Given the description of an element on the screen output the (x, y) to click on. 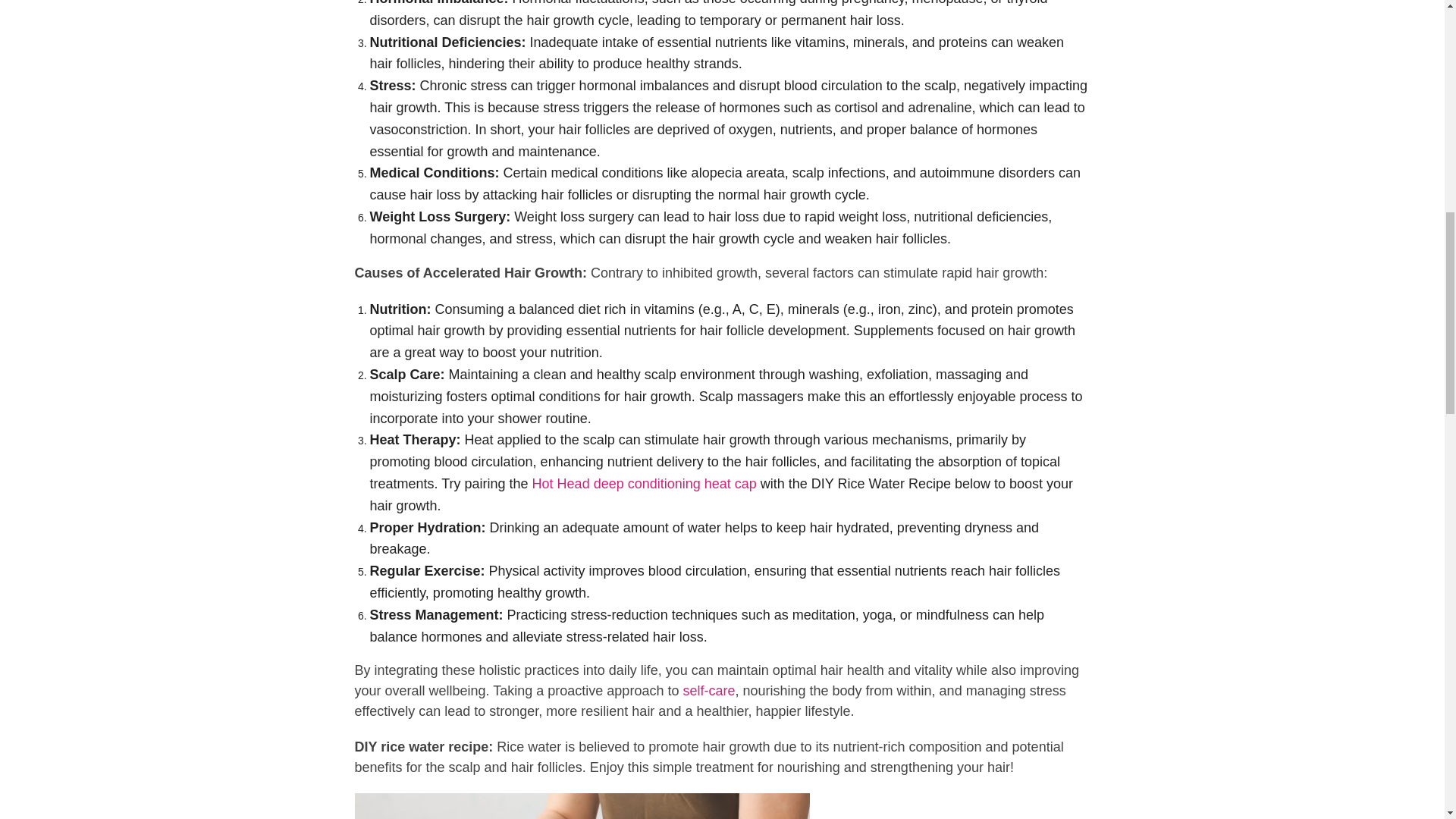
Rice water (582, 806)
Hot Head deep conditioning heat cap (644, 483)
self-care (708, 690)
